Given the description of an element on the screen output the (x, y) to click on. 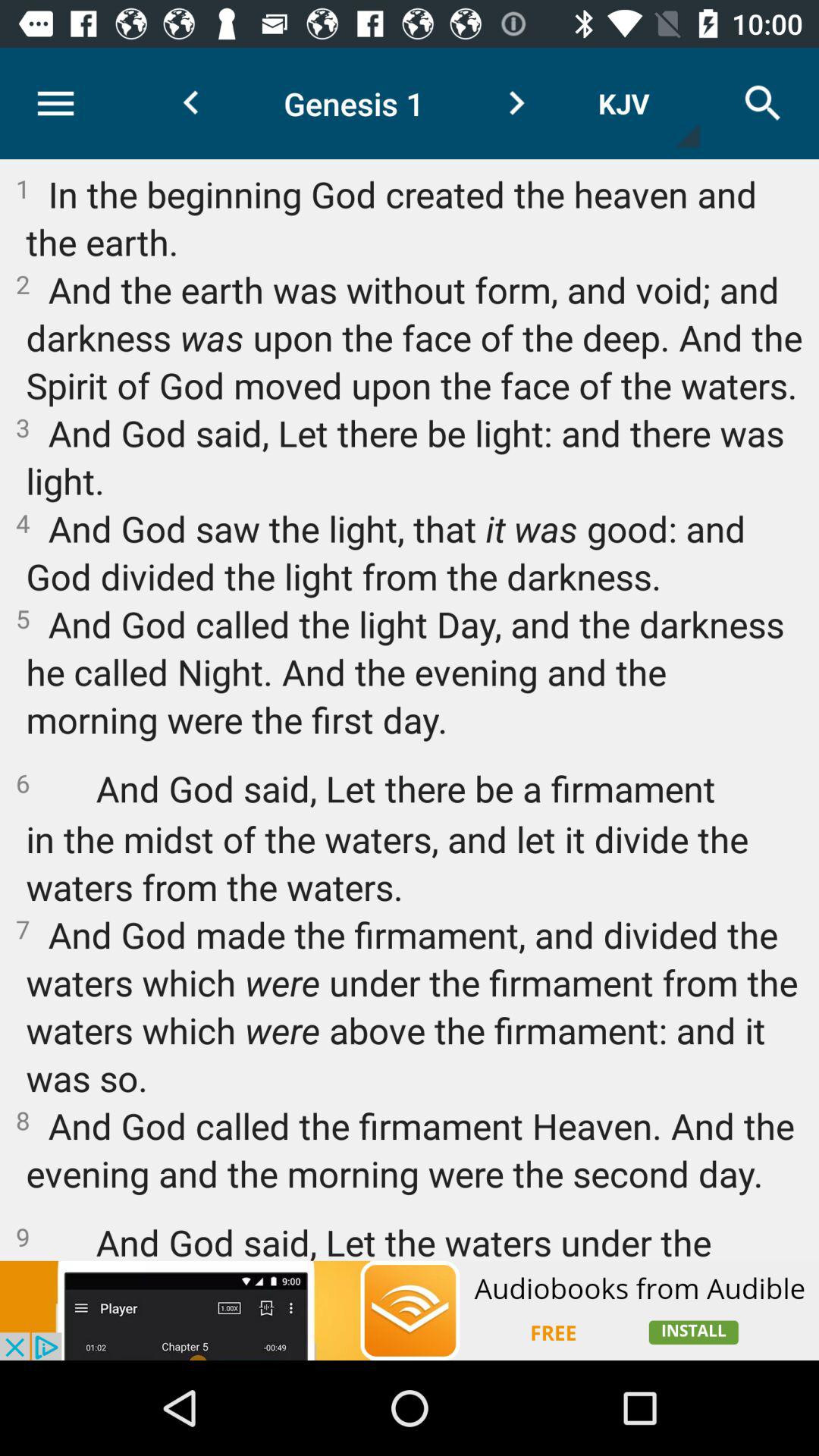
open advertisement (409, 1310)
